Given the description of an element on the screen output the (x, y) to click on. 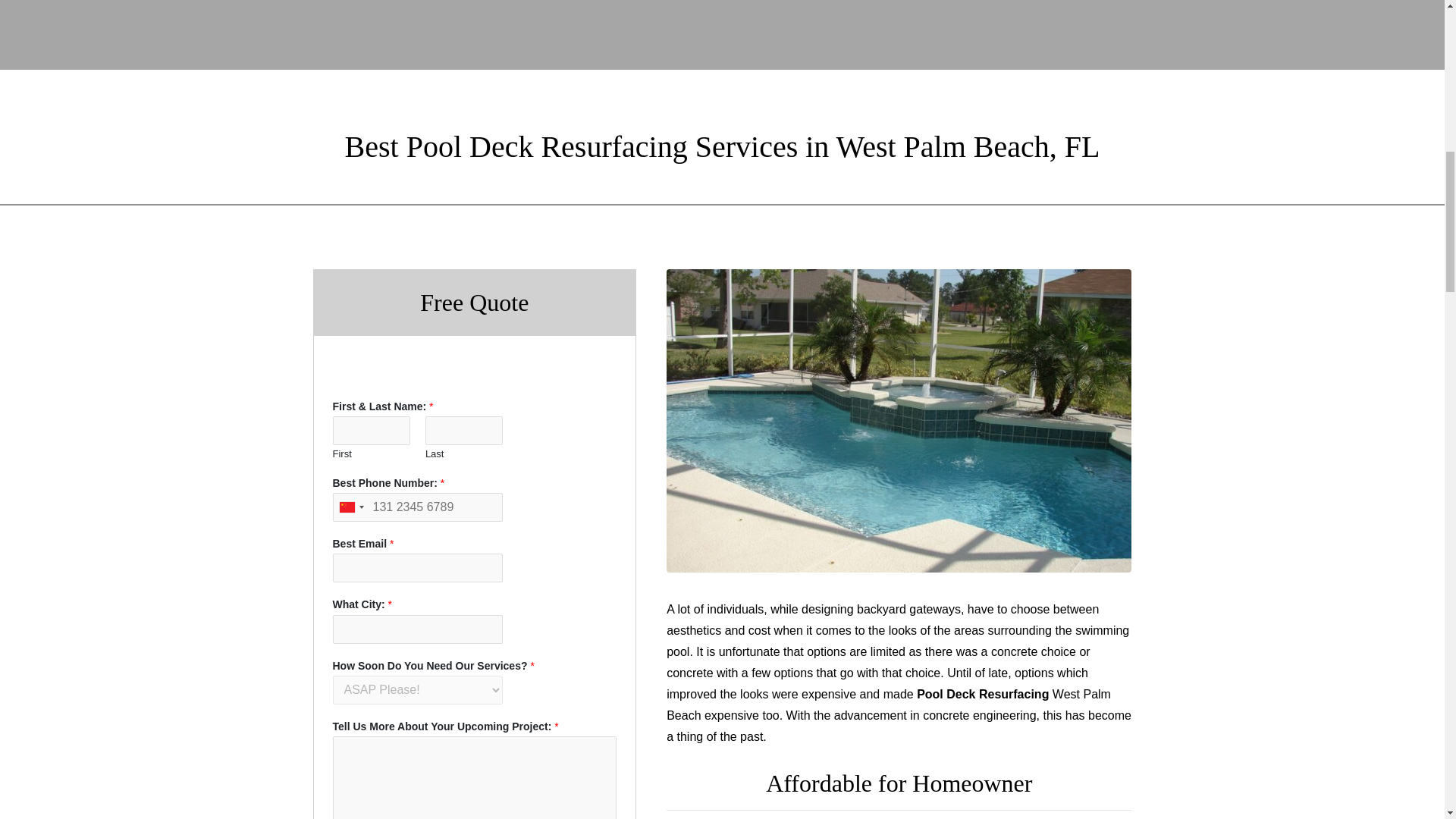
Pool Deck Resurfacing (982, 694)
